Given the description of an element on the screen output the (x, y) to click on. 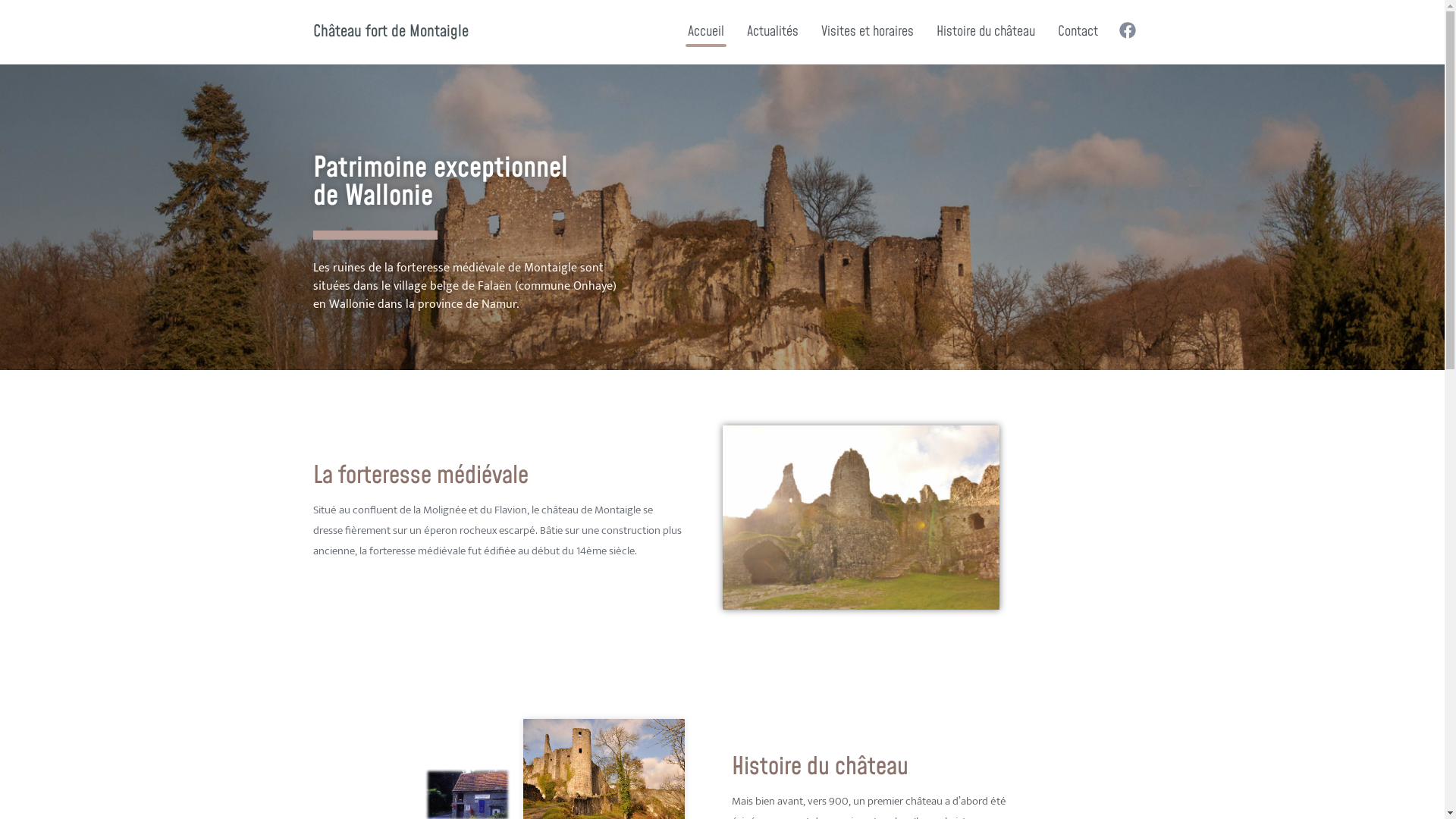
Contact Element type: text (1077, 31)
Facebook Element type: text (1128, 30)
Accueil Element type: text (722, 87)
Accueil Element type: text (705, 31)
Visites et horaires Element type: text (867, 31)
